Given the description of an element on the screen output the (x, y) to click on. 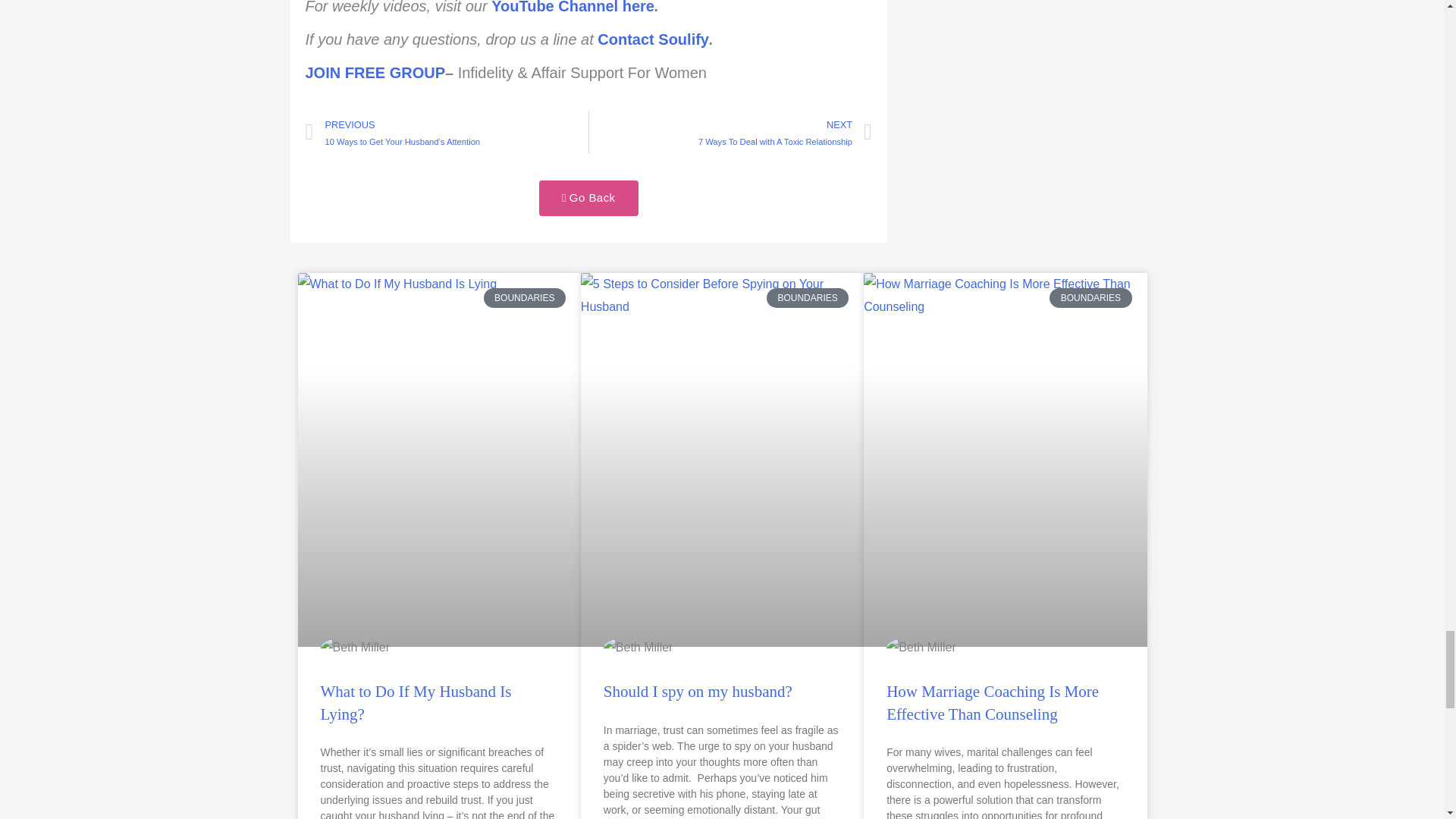
Go Back (588, 198)
JOIN FREE GROUP (374, 72)
Contact Soulify (652, 39)
YouTube Channel here (572, 7)
What to Do If My Husband Is Lying? (415, 702)
